Given the description of an element on the screen output the (x, y) to click on. 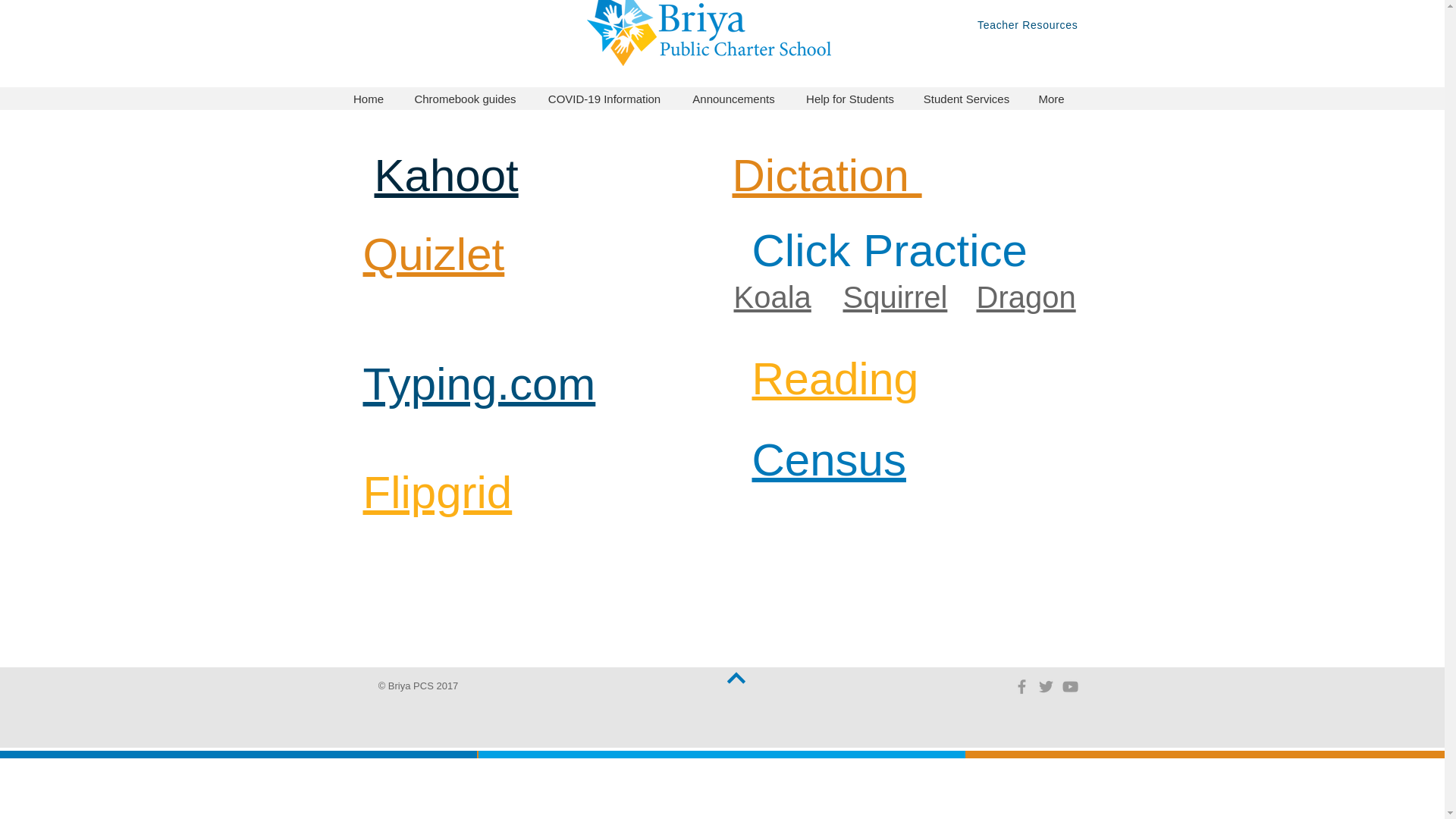
Help for Students (849, 98)
Home (367, 98)
Announcements (733, 98)
Chromebook guides (465, 98)
Teacher Resources (1027, 24)
COVID-19 Information (604, 98)
